Given the description of an element on the screen output the (x, y) to click on. 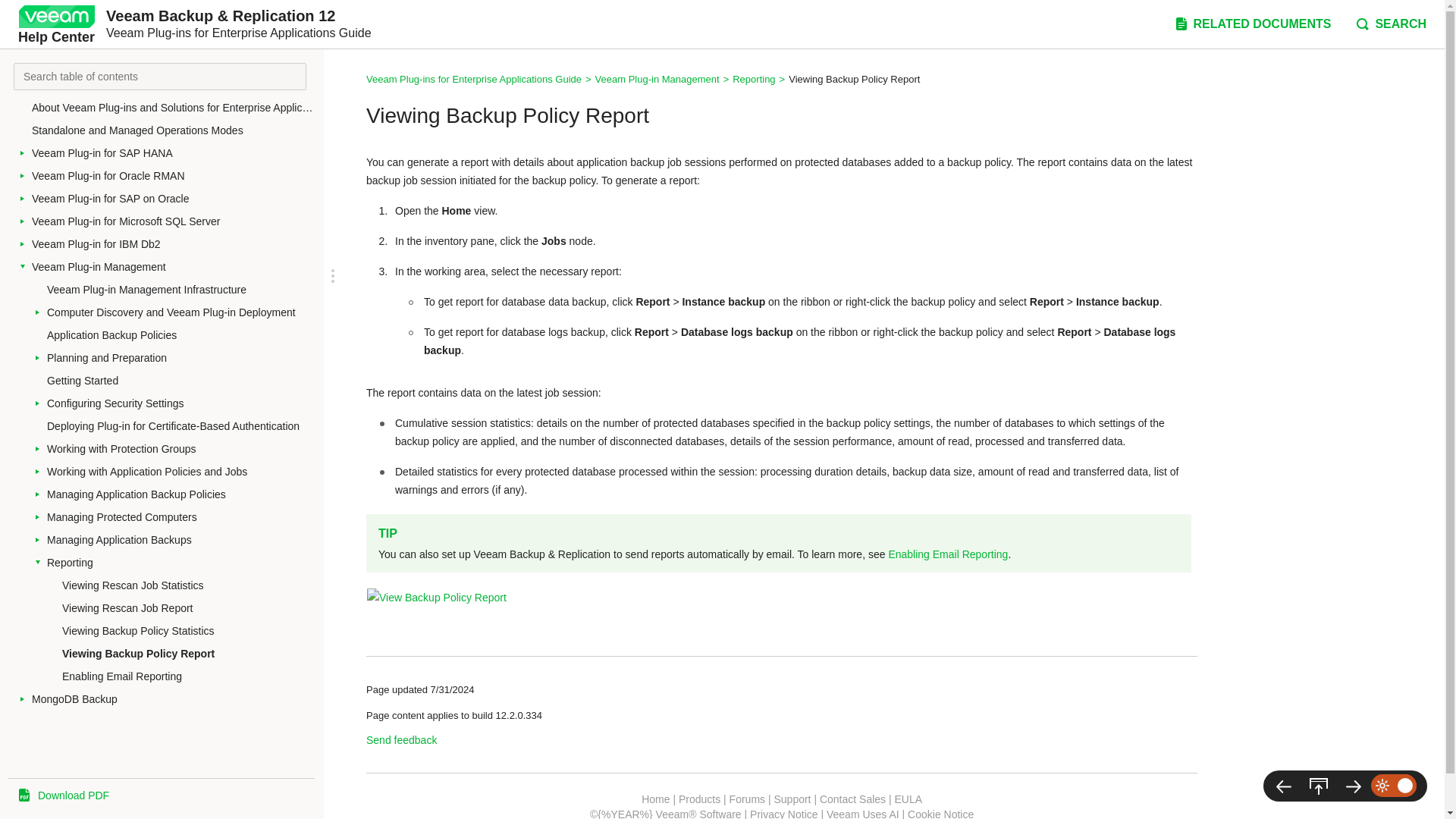
Veeam Plug-in for SAP HANA (173, 152)
Standalone and Managed Operations Modes (173, 129)
RELATED DOCUMENTS (1252, 24)
SEARCH (1390, 24)
Veeam Plug-in for SAP HANA (173, 152)
Help Center (55, 23)
Standalone and Managed Operations Modes (173, 129)
